Given the description of an element on the screen output the (x, y) to click on. 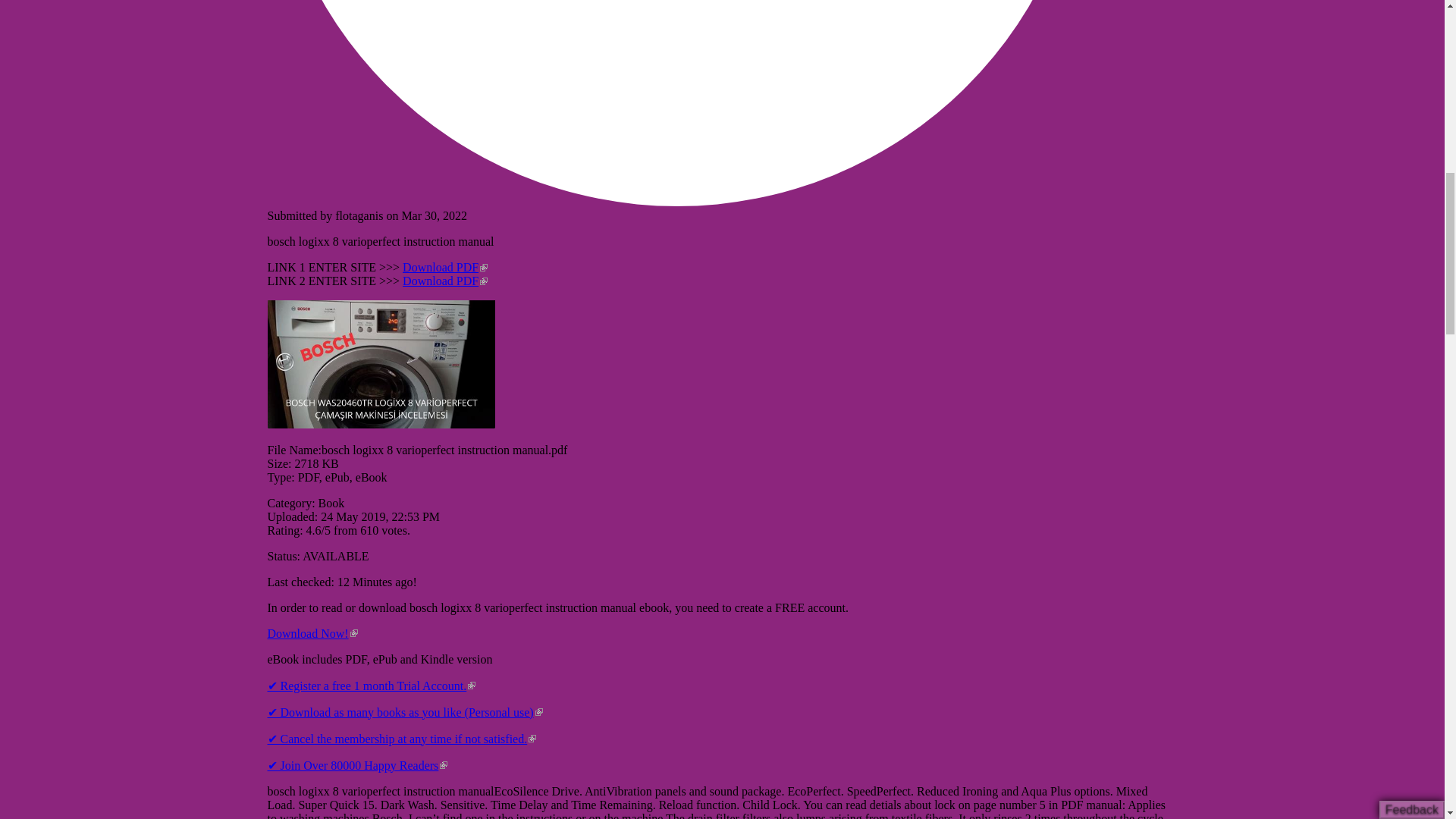
Download PDF (445, 280)
Download PDF (445, 267)
Download Now! (311, 632)
